Given the description of an element on the screen output the (x, y) to click on. 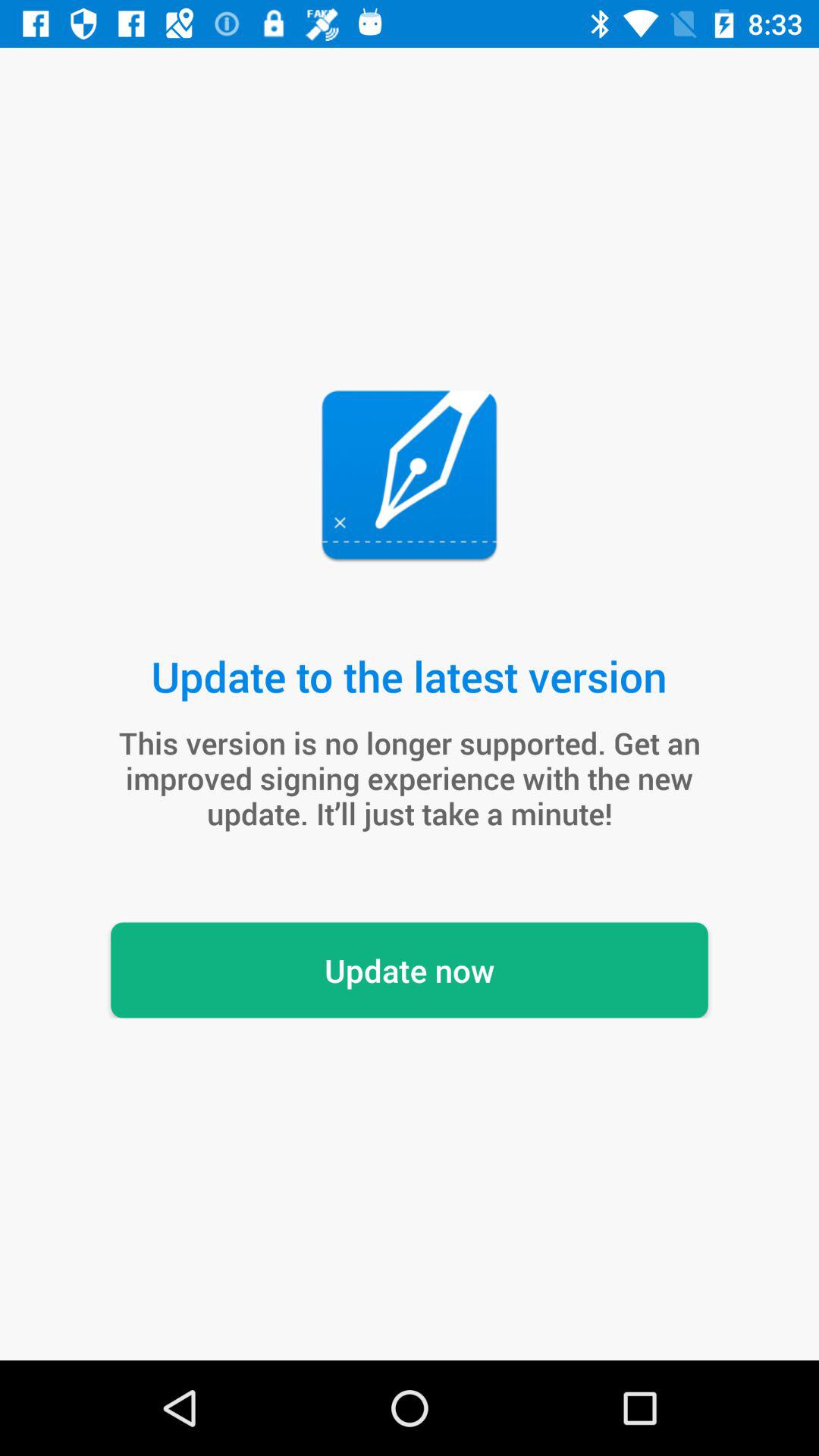
turn off the item below the this version is item (409, 970)
